Given the description of an element on the screen output the (x, y) to click on. 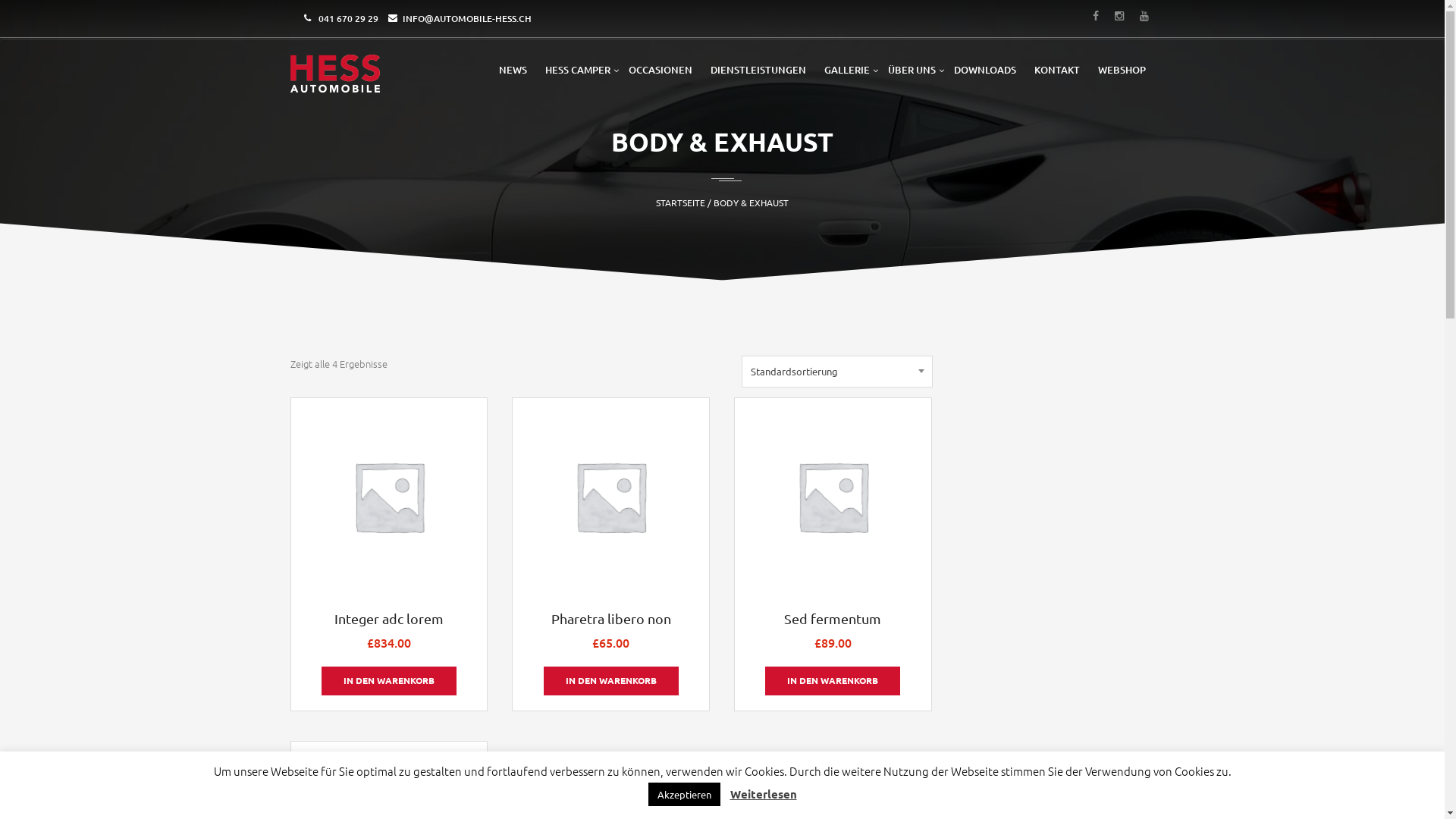
OCCASIONEN Element type: text (659, 69)
GALLERIE Element type: text (846, 69)
IN DEN WARENKORB Element type: text (832, 680)
IN DEN WARENKORB Element type: text (388, 680)
INFO@AUTOMOBILE-HESS.CH Element type: text (465, 18)
STARTSEITE Element type: text (680, 202)
DIENSTLEISTUNGEN Element type: text (757, 69)
Weiterlesen Element type: text (762, 794)
NEWS Element type: text (512, 69)
WEBSHOP Element type: text (1121, 69)
KONTAKT Element type: text (1056, 69)
HESS CAMPER Element type: text (576, 69)
Akzeptieren Element type: text (683, 794)
IN DEN WARENKORB Element type: text (610, 680)
DOWNLOADS Element type: text (984, 69)
